Given the description of an element on the screen output the (x, y) to click on. 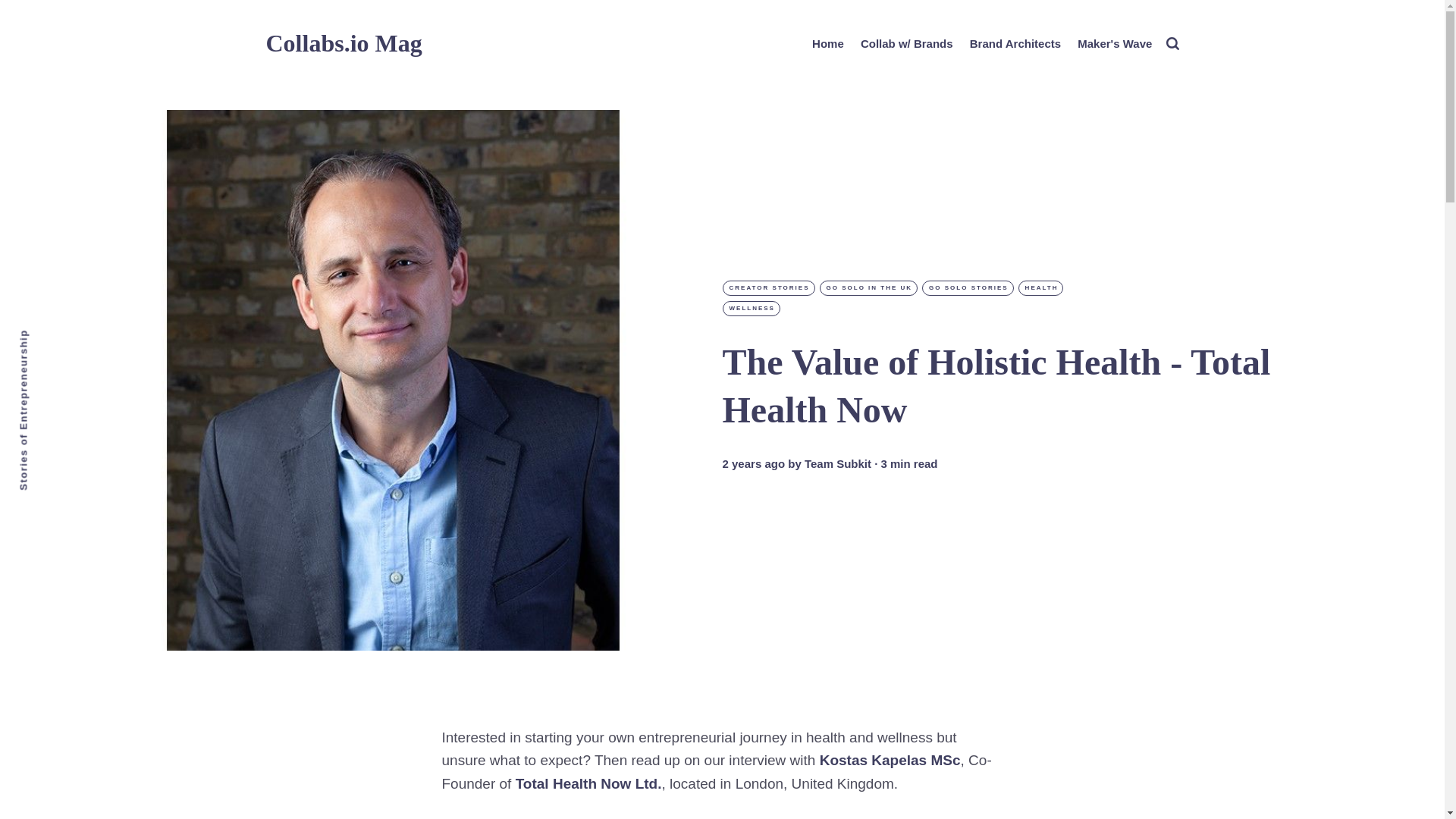
GO SOLO STORIES (967, 287)
GO SOLO IN THE UK (868, 287)
CREATOR STORIES (767, 287)
Brand Architects (1015, 43)
Collabs.io Mag (343, 43)
Home (827, 43)
WELLNESS (750, 308)
HEALTH (1040, 287)
Maker's Wave (1114, 43)
Team Subkit (837, 463)
